Given the description of an element on the screen output the (x, y) to click on. 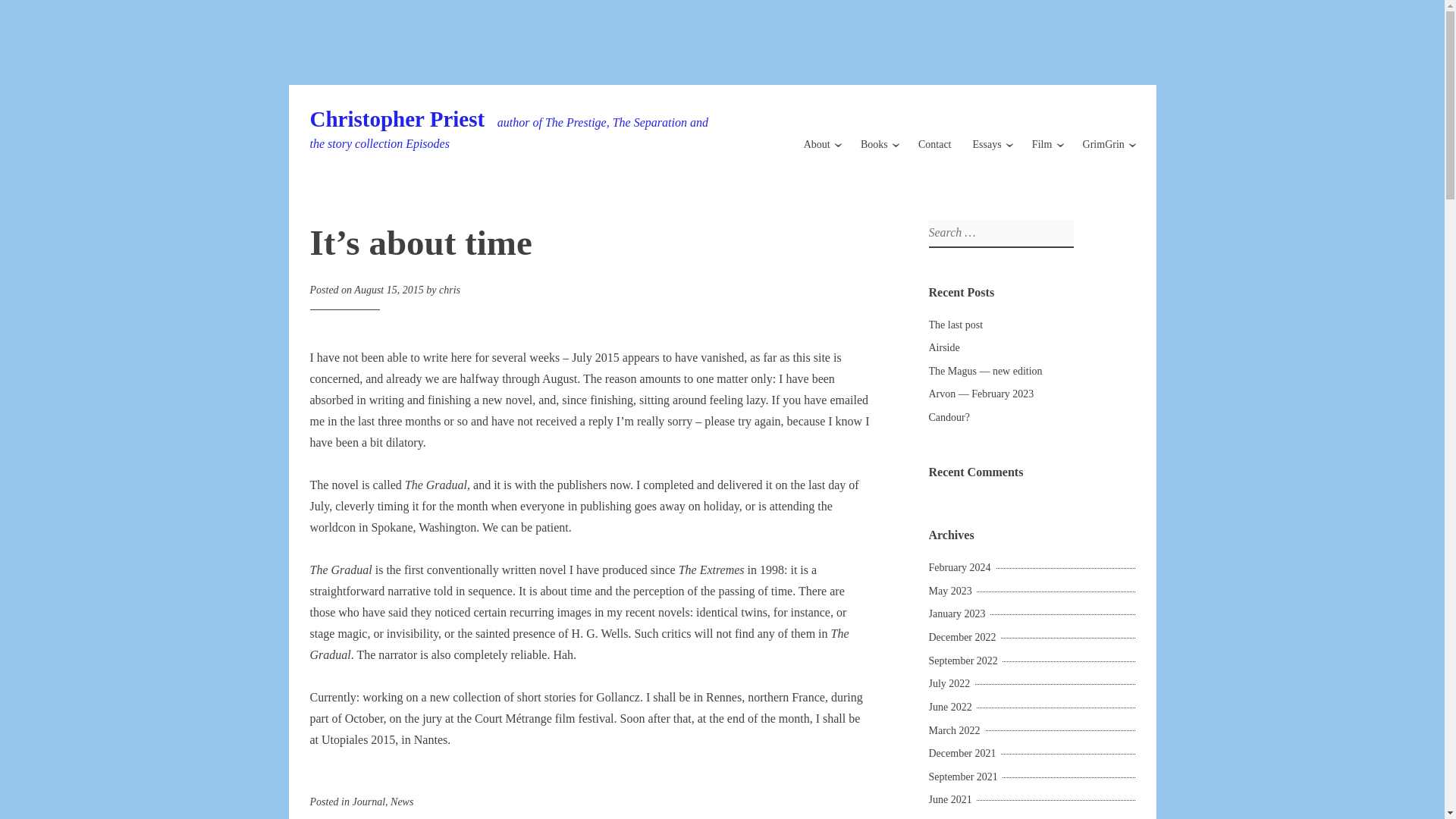
Christopher Priest (396, 119)
About (816, 143)
Books (874, 143)
